Given the description of an element on the screen output the (x, y) to click on. 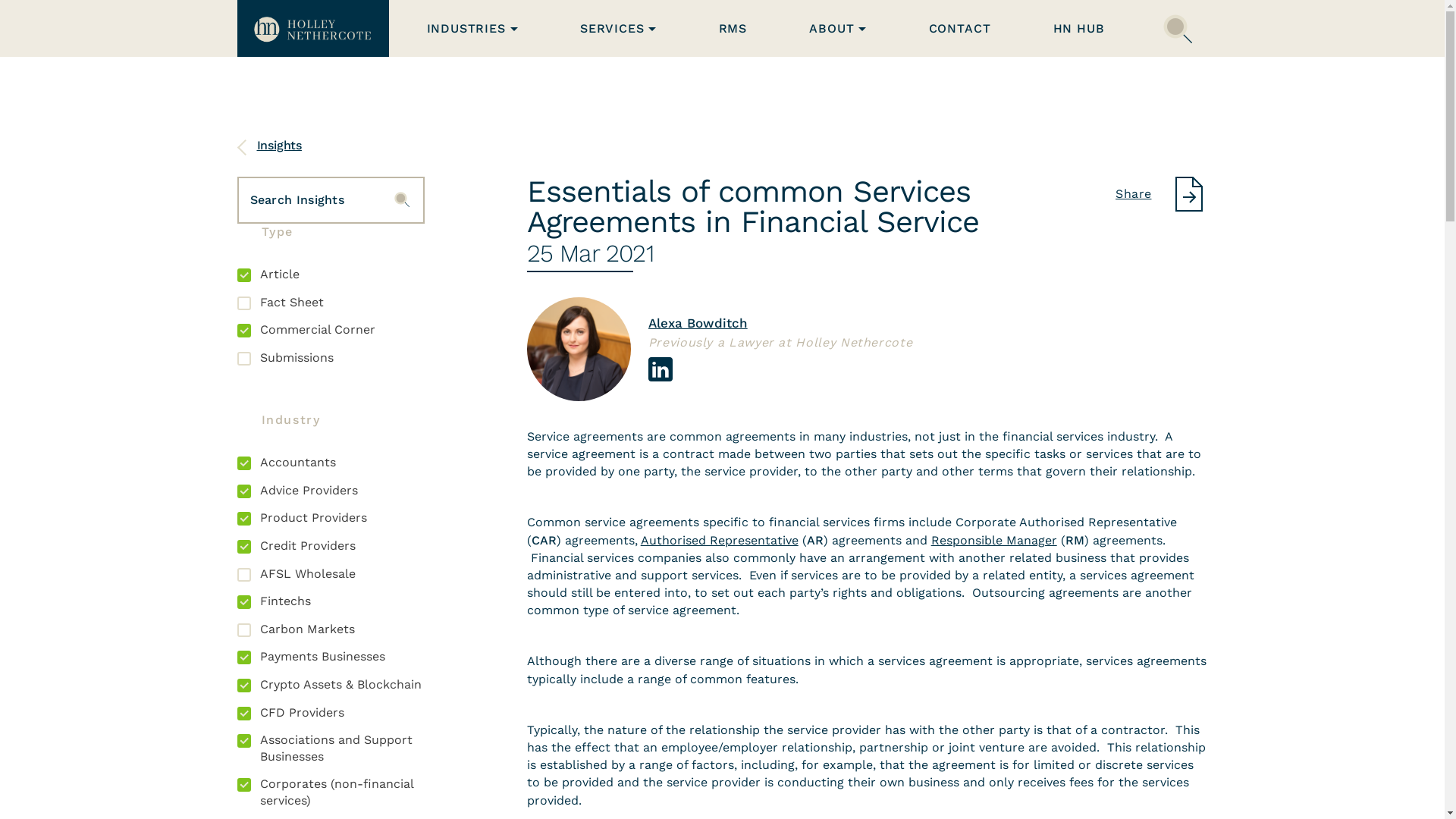
Linkedin Element type: text (660, 369)
ABOUT Element type: text (837, 28)
HN HUB Element type: text (1078, 28)
submit Element type: text (401, 199)
Responsible Manager Element type: text (994, 540)
Alexa Bowditch Element type: text (697, 322)
CONTACT Element type: text (959, 28)
Insights Element type: text (268, 145)
INDUSTRIES Element type: text (471, 28)
RMS Element type: text (732, 28)
SERVICES Element type: text (618, 28)
Share Element type: text (1161, 195)
Search Element type: text (1177, 27)
Authorised Representative Element type: text (719, 540)
